Given the description of an element on the screen output the (x, y) to click on. 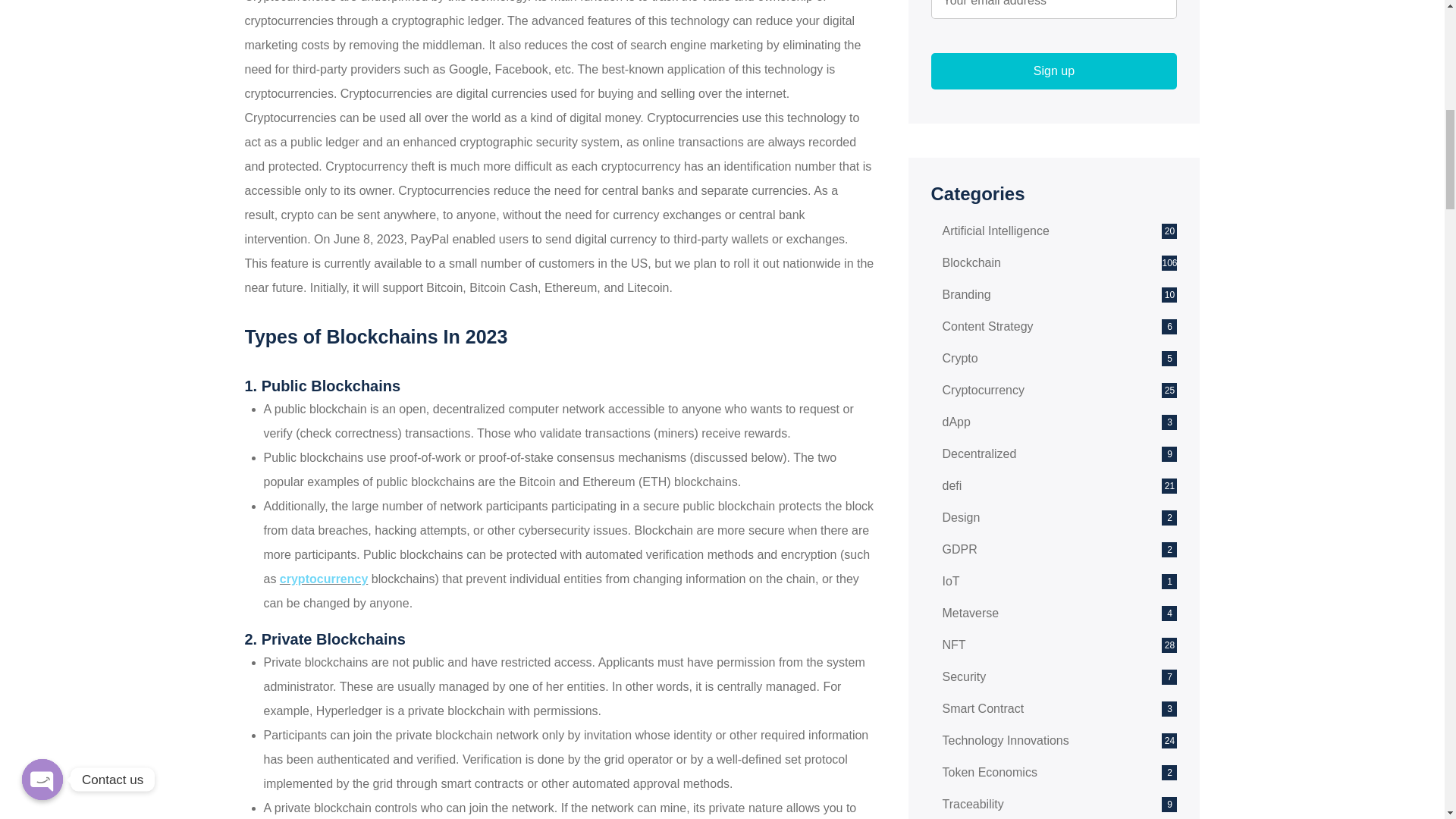
Sign up (1054, 71)
